Given the description of an element on the screen output the (x, y) to click on. 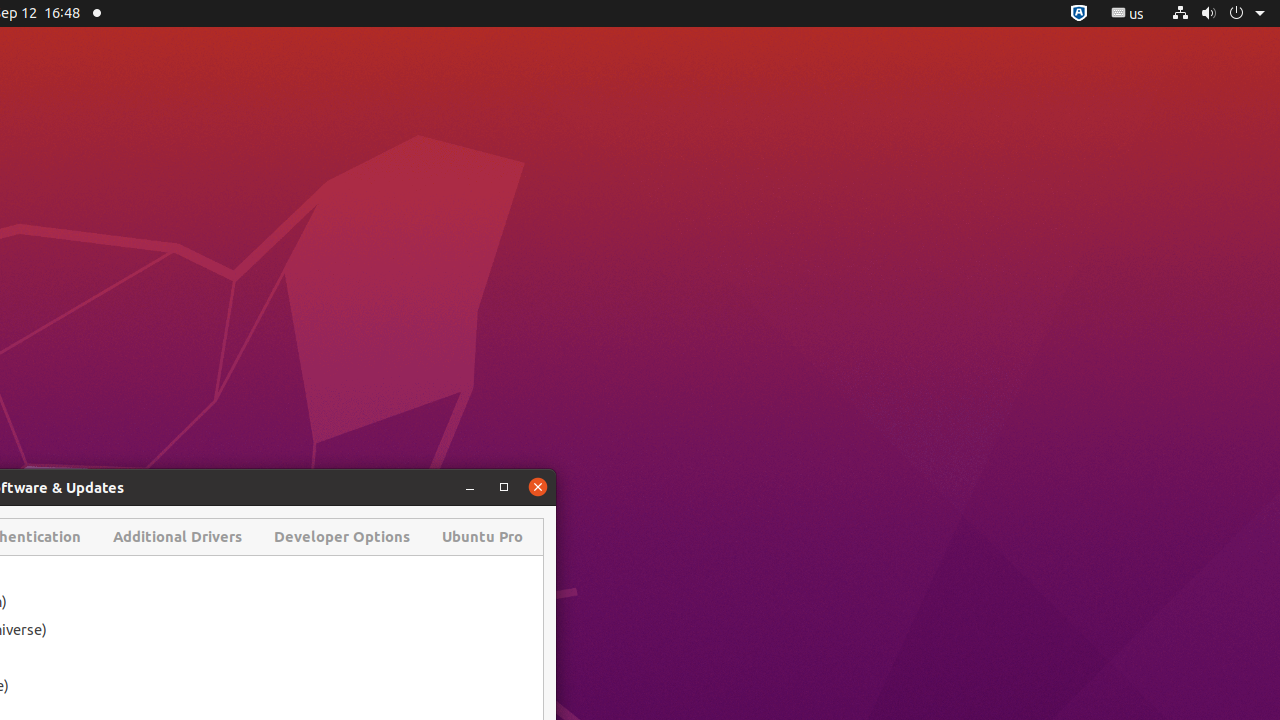
Ubuntu Pro Element type: page-tab (482, 537)
